Given the description of an element on the screen output the (x, y) to click on. 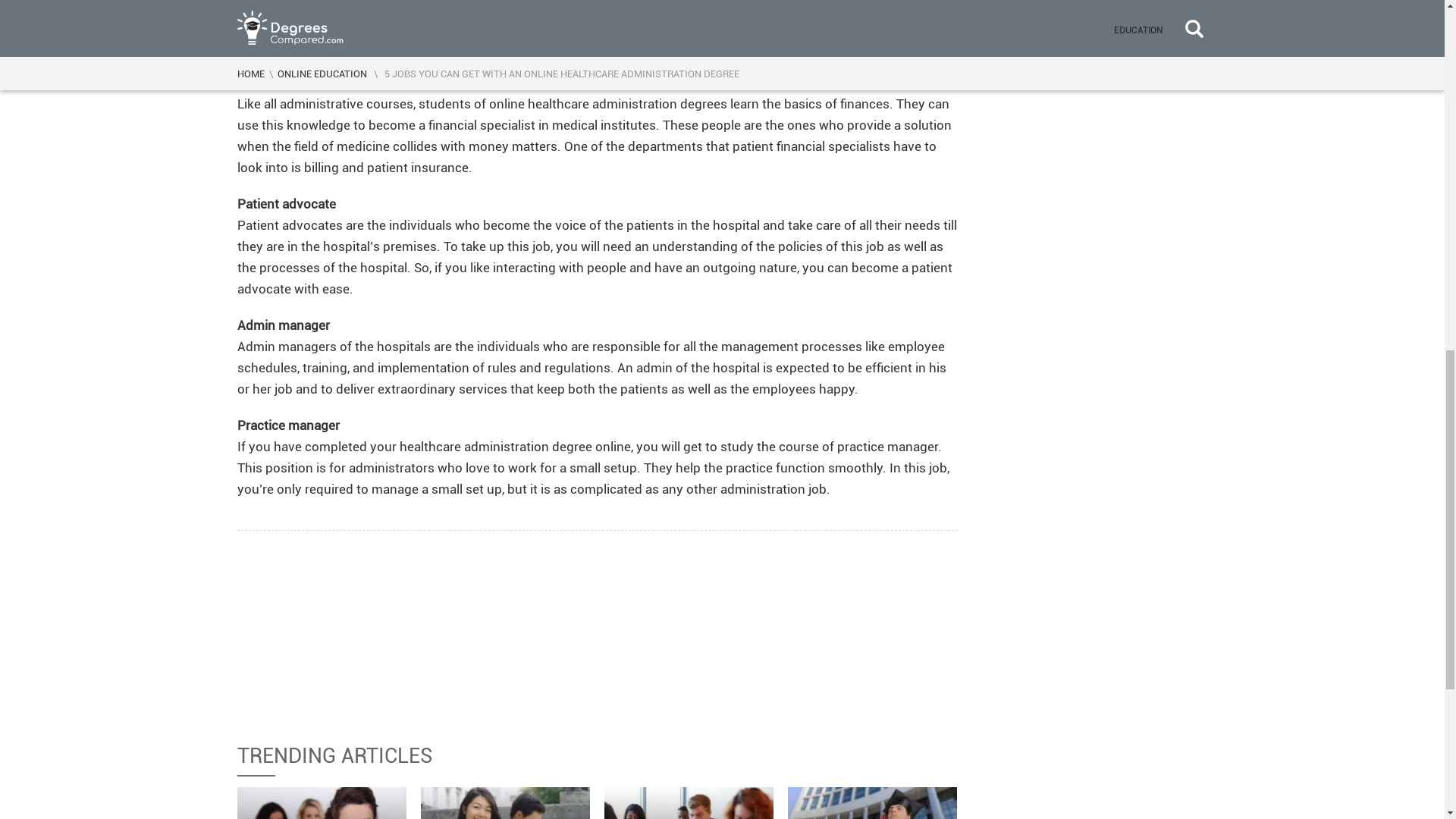
 How to intern and earn money when in college (688, 803)
 Top college affiliate programs you must know about (321, 803)
College affiliate programs you cannot afford to miss (504, 803)
Top college affiliate programs you must know about (321, 803)
How to intern and earn money when in college (688, 803)
 College affiliate programs you cannot afford to miss (504, 803)
